Given the description of an element on the screen output the (x, y) to click on. 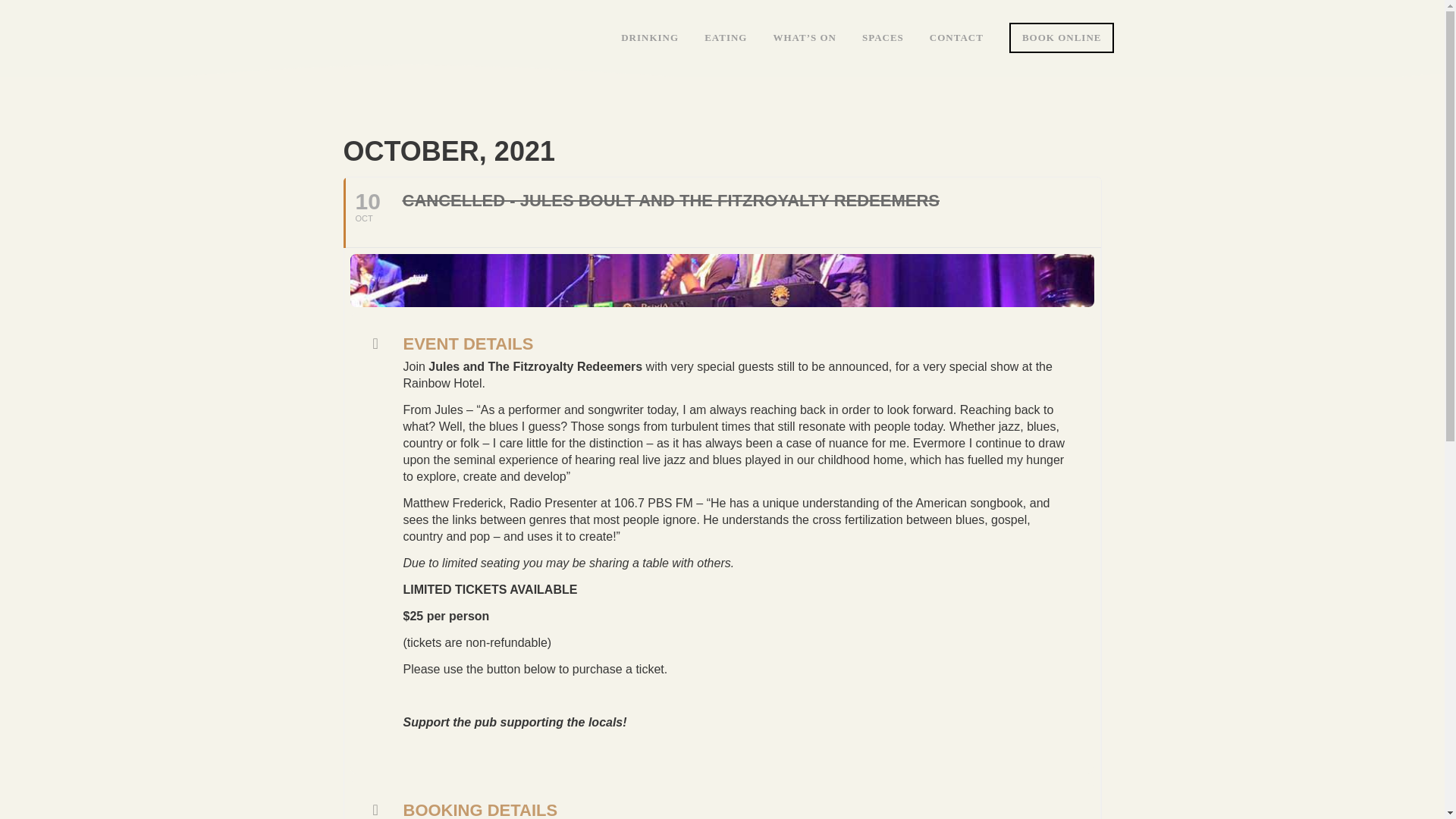
SPACES (882, 38)
CONTACT (722, 212)
DRINKING (956, 38)
BOOK ONLINE (649, 38)
EATING (1060, 38)
